Given the description of an element on the screen output the (x, y) to click on. 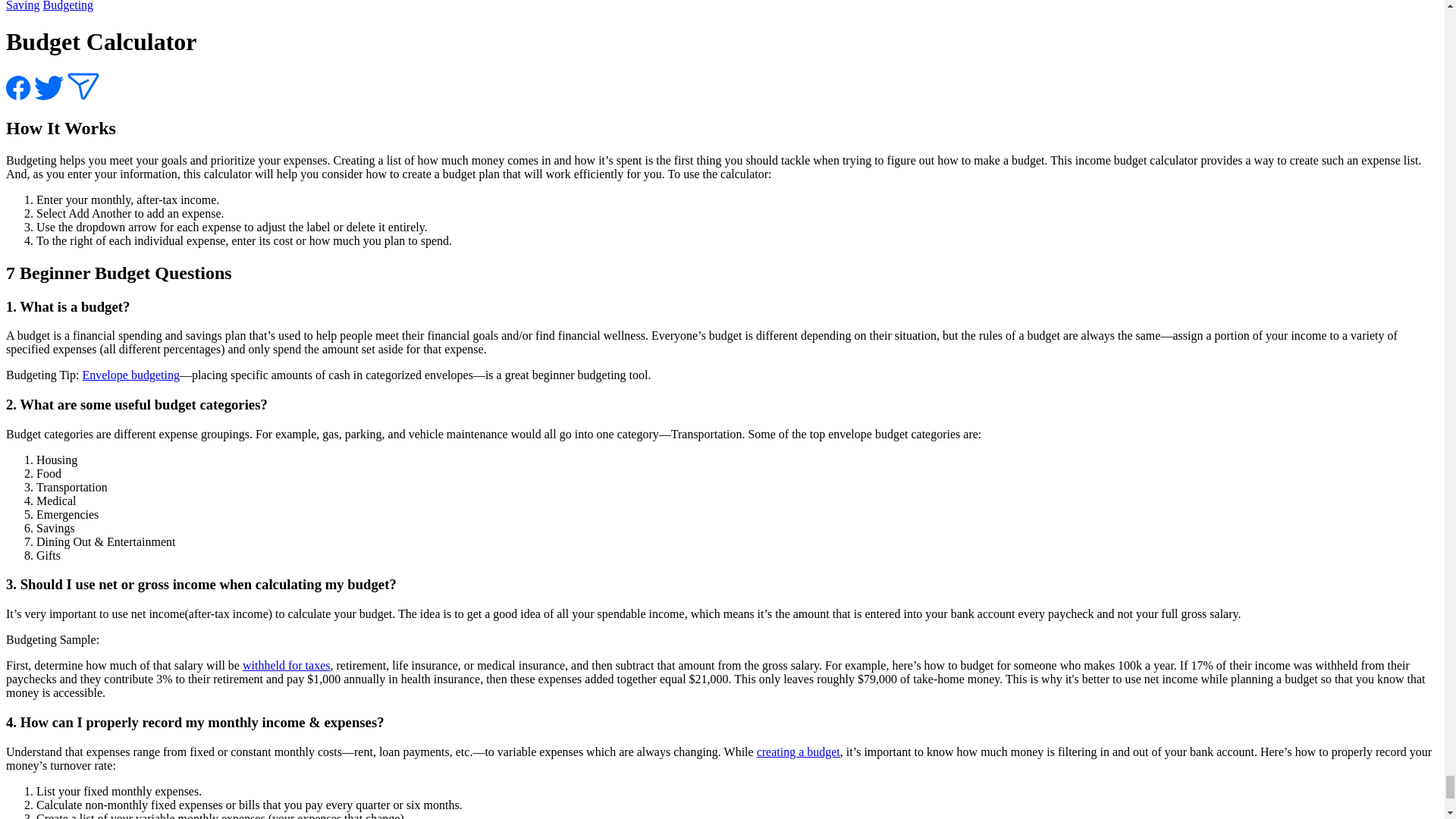
Group 5 Created with Sketch. (82, 85)
